Given the description of an element on the screen output the (x, y) to click on. 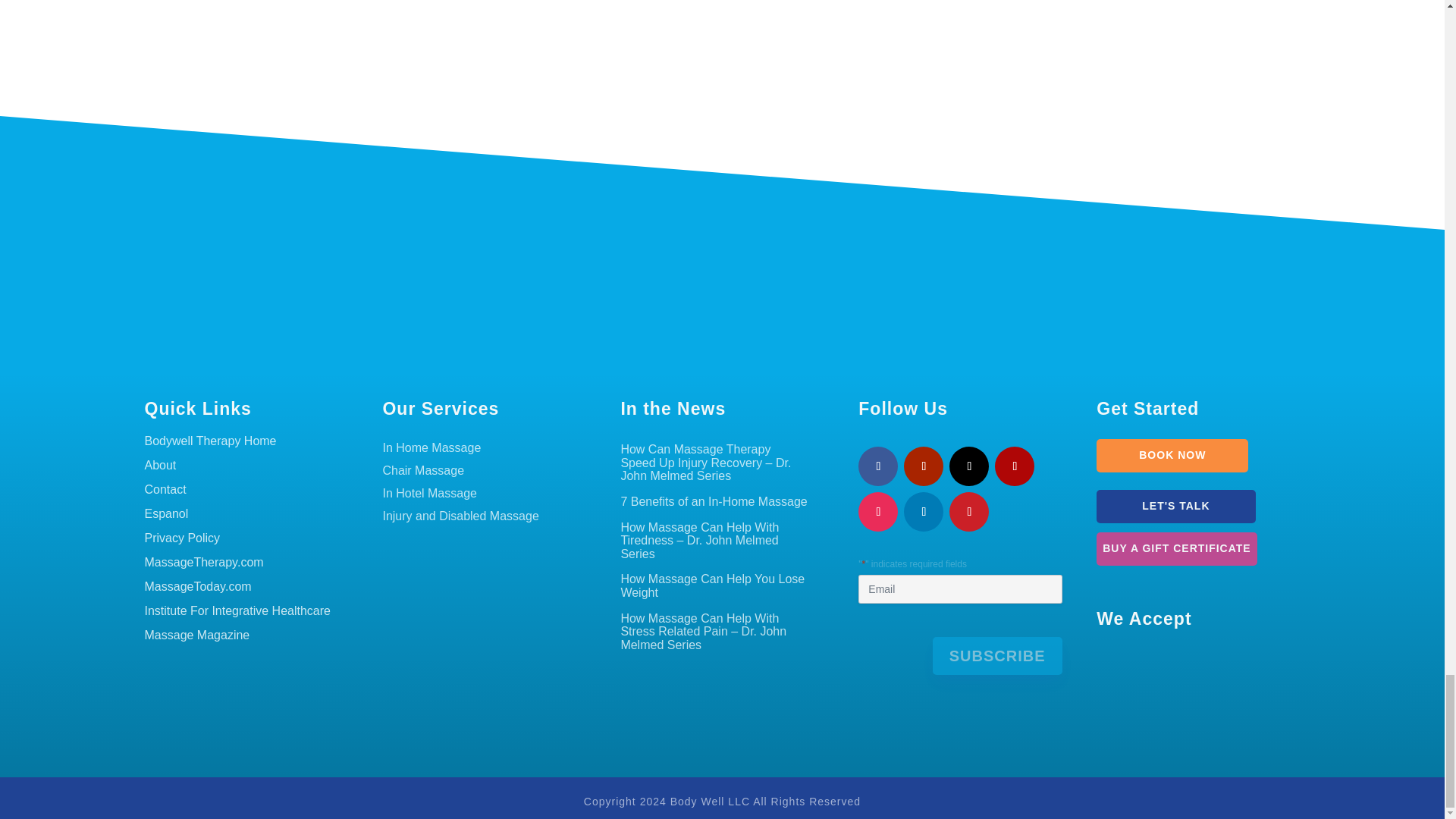
Follow on Yelp (1013, 466)
Follow on Instagram (878, 511)
Follow on X (968, 466)
SUBSCRIBE (997, 655)
Follow on Facebook (878, 466)
Follow on Youtube (923, 466)
